Given the description of an element on the screen output the (x, y) to click on. 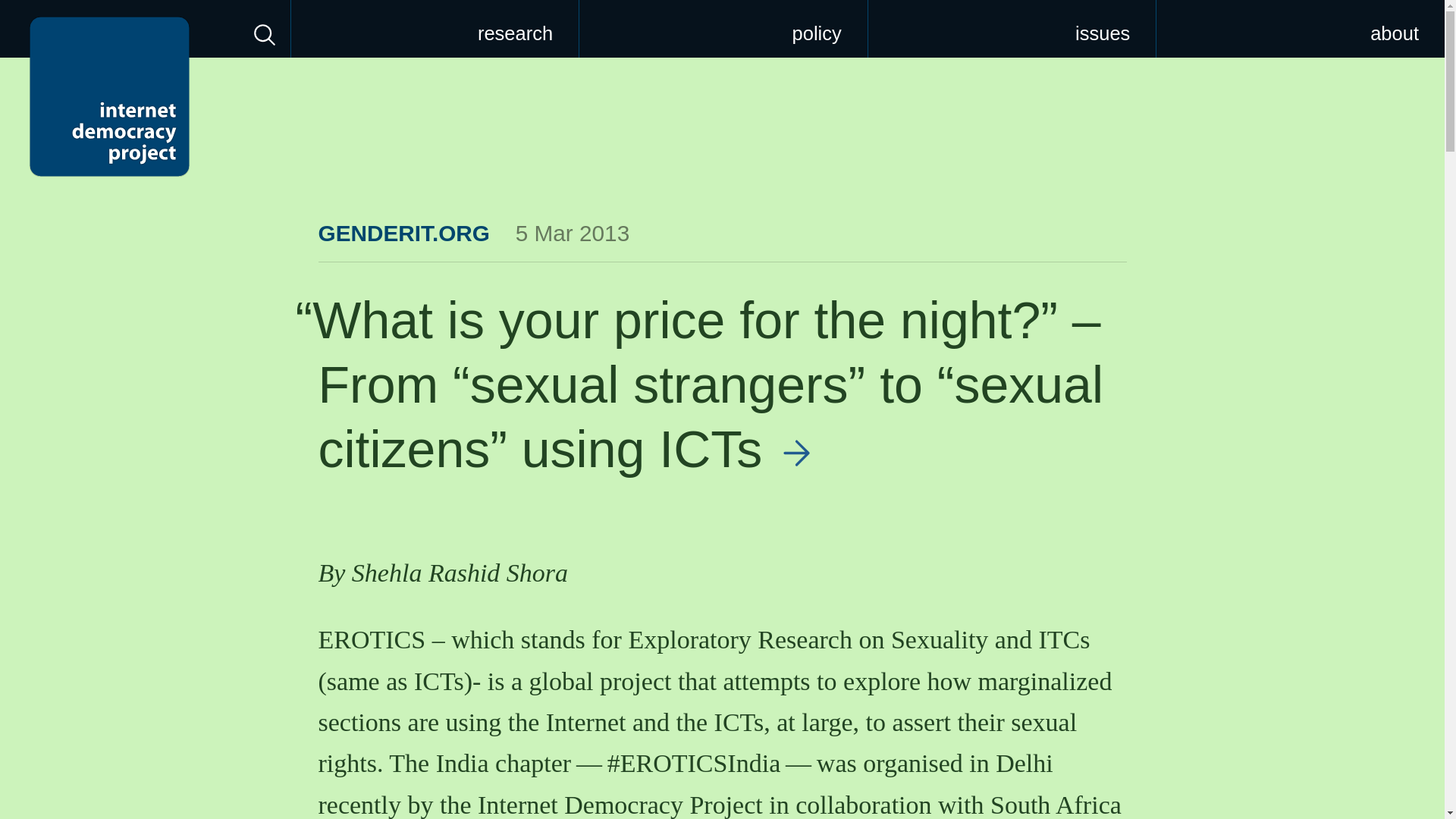
research (435, 28)
GENDERIT.ORG 5 Mar 2013 (474, 232)
Internet Democracy Project (109, 96)
policy (723, 28)
issues (1011, 28)
